Given the description of an element on the screen output the (x, y) to click on. 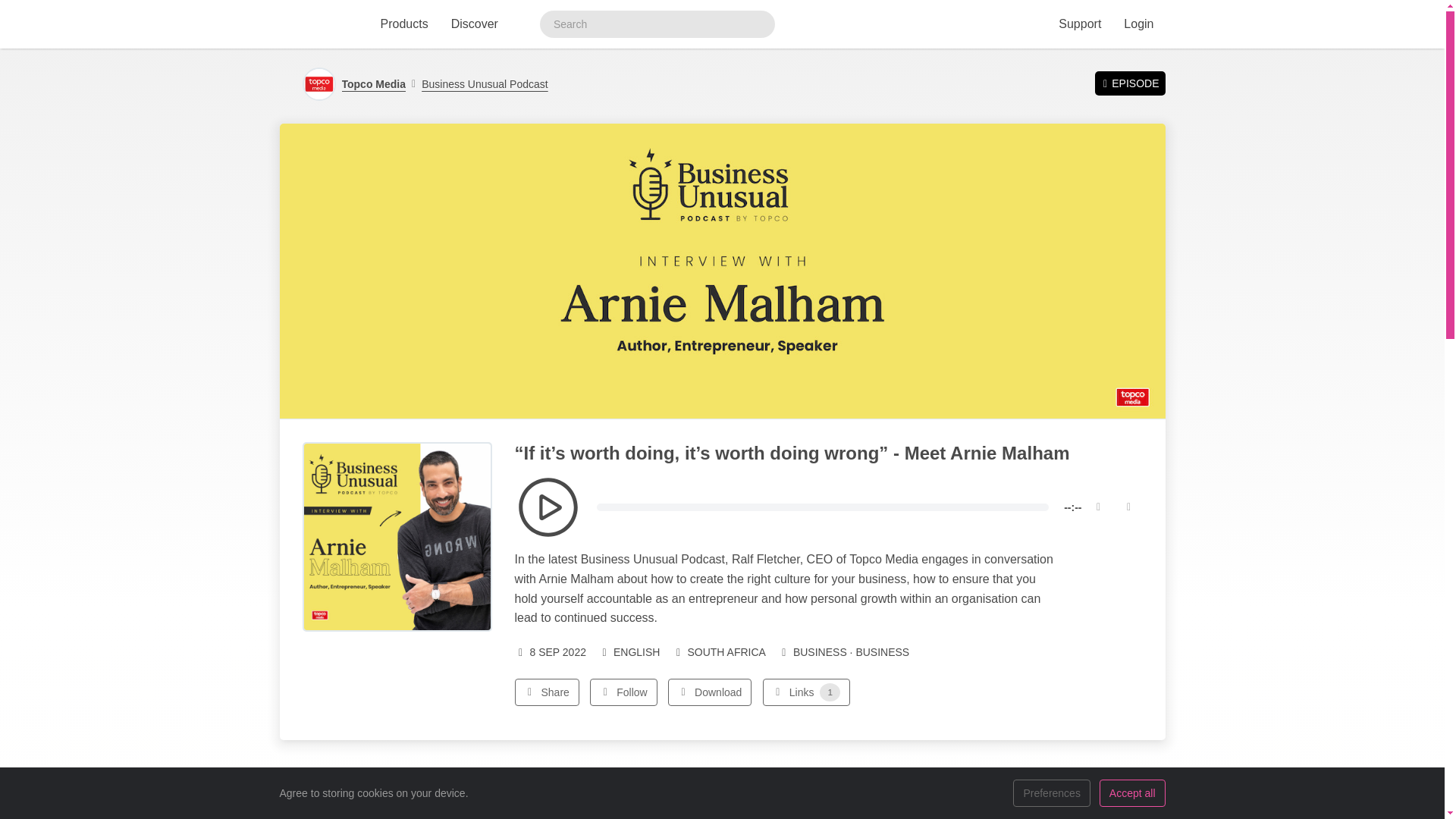
Support (1079, 24)
Products (403, 24)
Skip forward (1128, 506)
Login (1138, 24)
 EPISODE (1129, 83)
Country (718, 651)
Visit iono.fm homepage (316, 24)
Language (628, 651)
Skip backward (1098, 506)
Categories (842, 651)
